Given the description of an element on the screen output the (x, y) to click on. 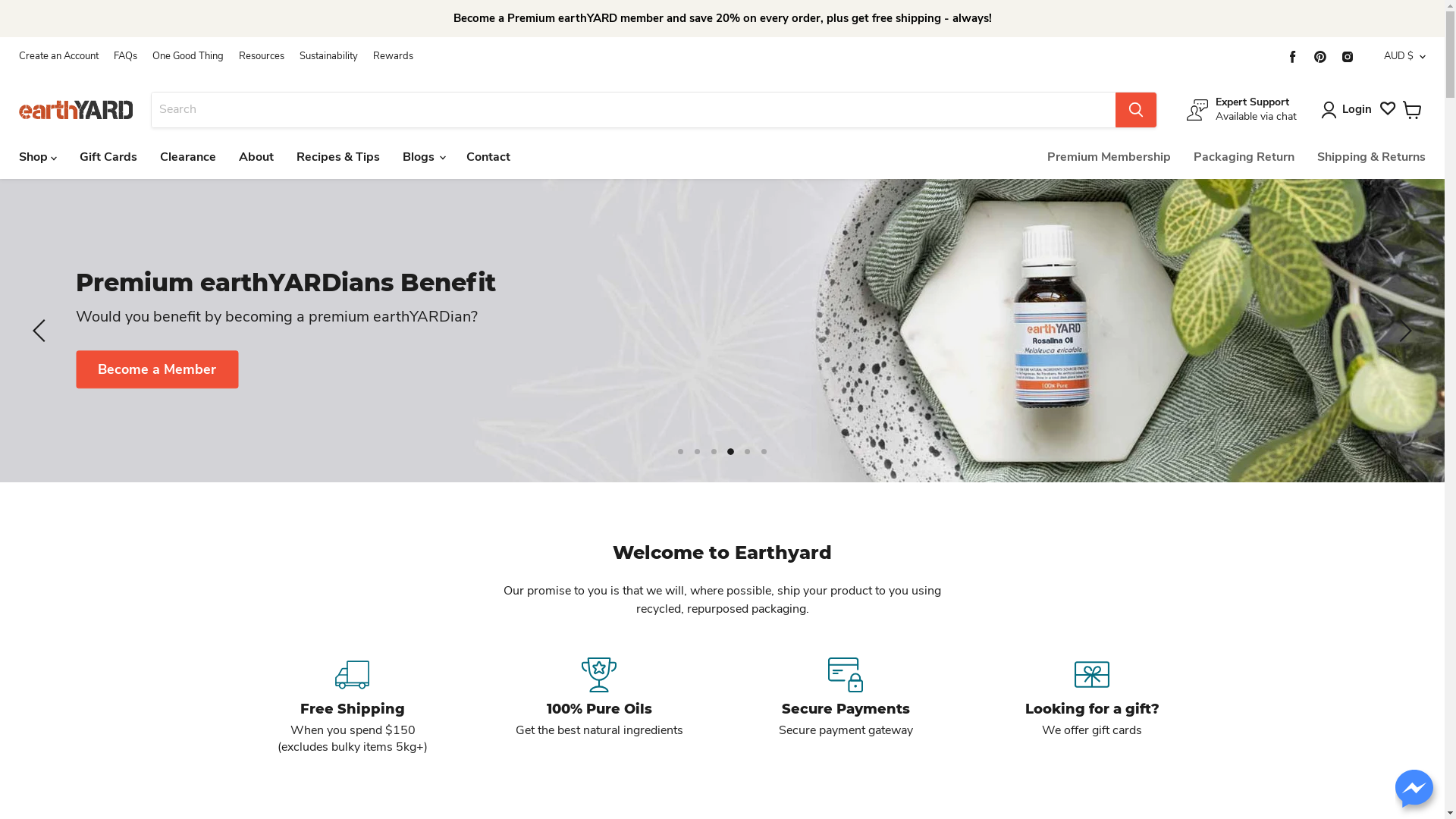
Rewards Element type: text (393, 56)
Gift Cards Element type: text (108, 156)
Find us on Pinterest Element type: text (1319, 55)
Slide 3 Element type: text (712, 450)
Find us on Instagram Element type: text (1347, 55)
Slide 2 Element type: text (696, 451)
Slide 1 Element type: text (680, 451)
AUD $ Element type: text (1400, 56)
View cart Element type: text (1412, 108)
Recipes & Tips Element type: text (338, 156)
One Good Thing Element type: text (187, 56)
Slide 6 Element type: text (763, 451)
Our Impact Element type: text (1310, 339)
Premium Membership Element type: text (1108, 156)
Clearance Element type: text (187, 156)
Slide 4 Element type: text (730, 451)
Contact Element type: text (488, 156)
Resources Element type: text (261, 56)
Shipping & Returns Element type: text (1371, 156)
FAQs Element type: text (125, 56)
Sustainability Element type: text (328, 56)
Expert Support
Available via chat Element type: text (1241, 108)
Slide 5 Element type: text (746, 451)
Create an Account Element type: text (58, 56)
About Element type: text (256, 156)
Login Element type: text (1356, 109)
Find us on Facebook Element type: text (1292, 55)
Packaging Return Element type: text (1243, 156)
